Given the description of an element on the screen output the (x, y) to click on. 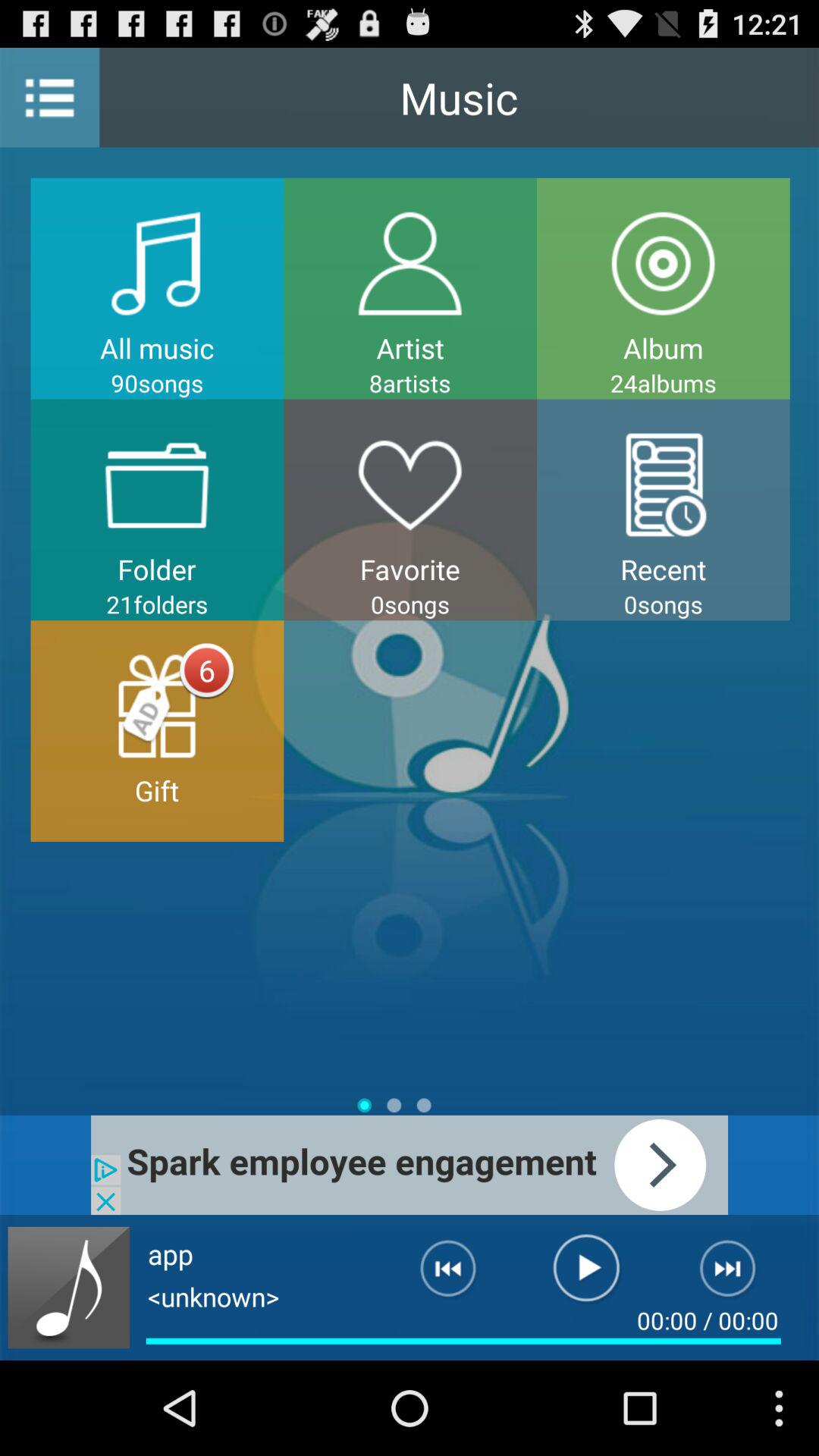
an (737, 1274)
